Given the description of an element on the screen output the (x, y) to click on. 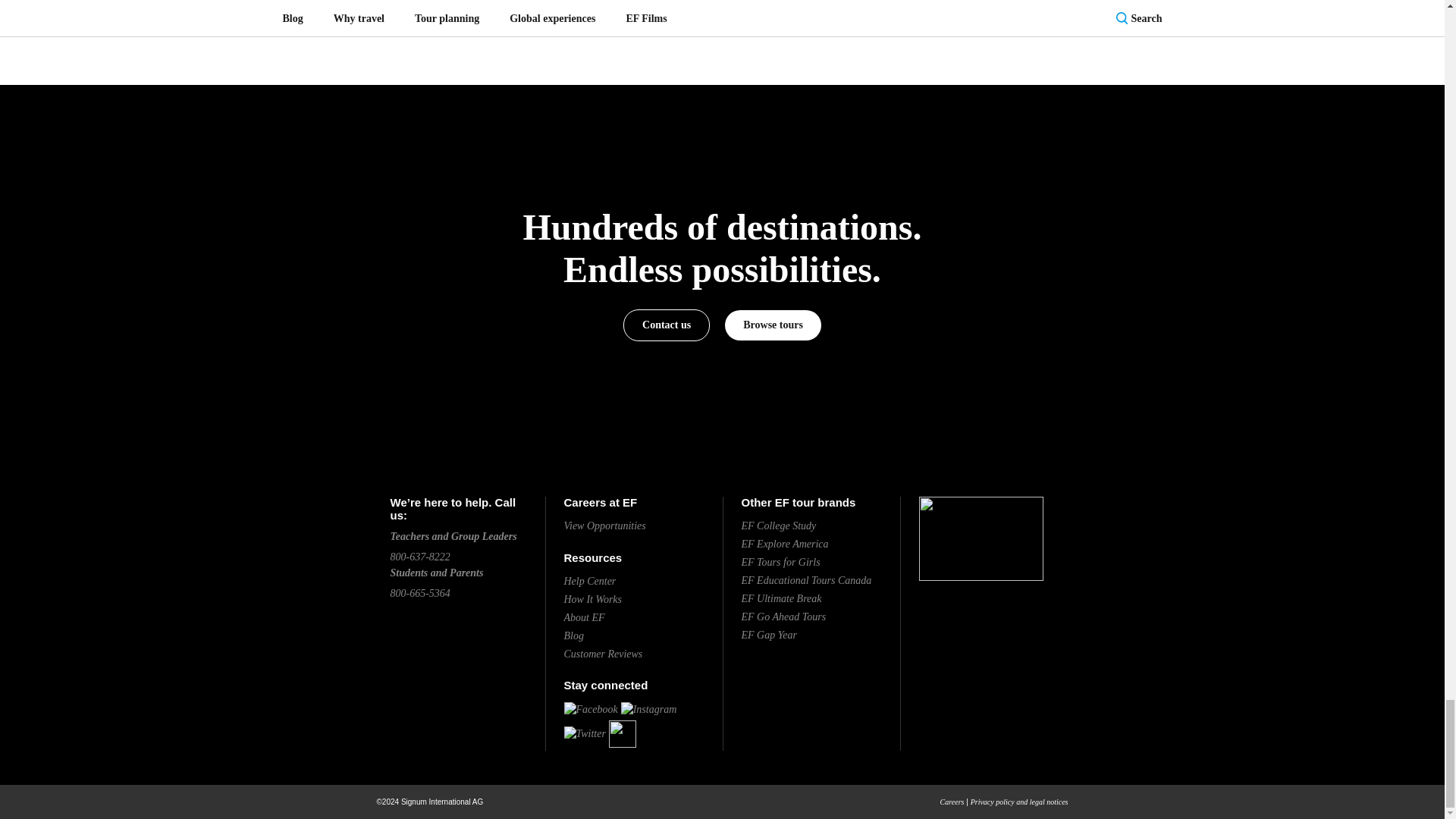
Educational Tours - Canada (806, 580)
EF Ultimate Break (781, 598)
Girl Scouts (781, 562)
Youtube (622, 732)
Explore America (784, 543)
Twitter (584, 732)
Go Ahead Tours (784, 616)
Facebook (590, 708)
Gap Year (768, 634)
College Study Tours (778, 525)
